Given the description of an element on the screen output the (x, y) to click on. 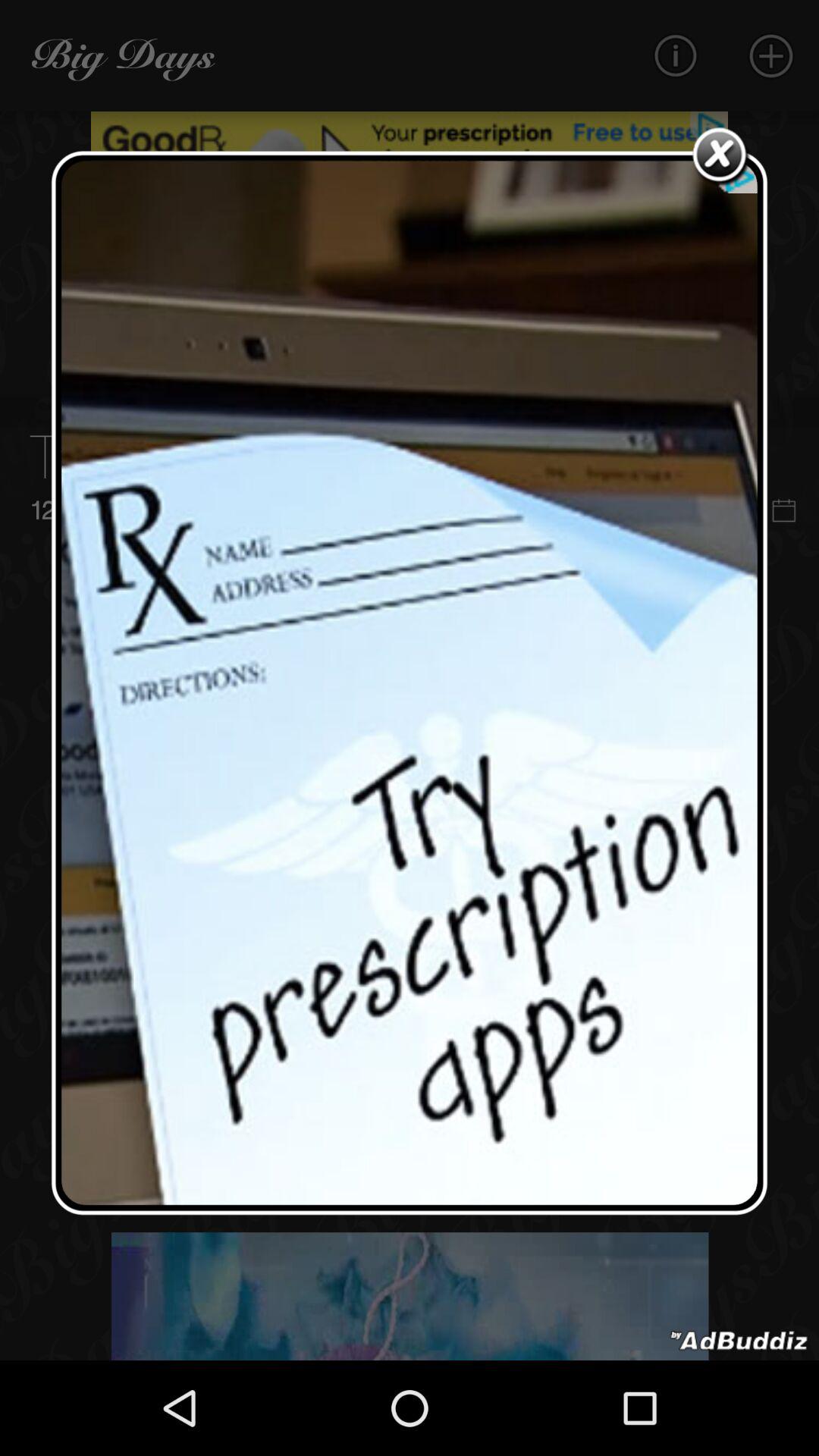
respite page (409, 682)
